Given the description of an element on the screen output the (x, y) to click on. 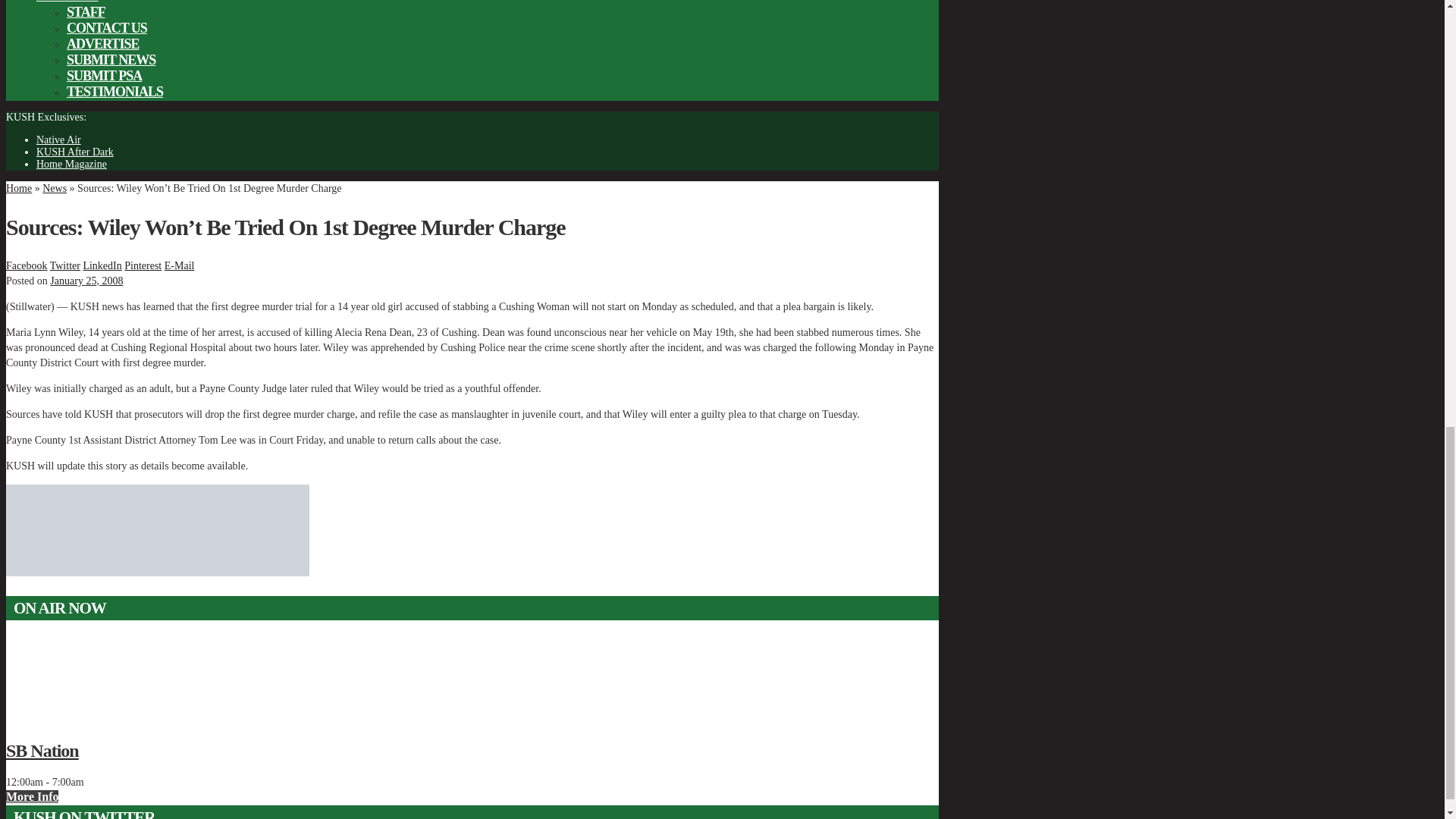
Share to Twitter (64, 265)
Share to LinkedIn (101, 265)
SB Nation (472, 751)
Share to E-Mail (179, 265)
Share to Facebook (25, 265)
Share to Pinterest (142, 265)
12:00 am (85, 280)
